Given the description of an element on the screen output the (x, y) to click on. 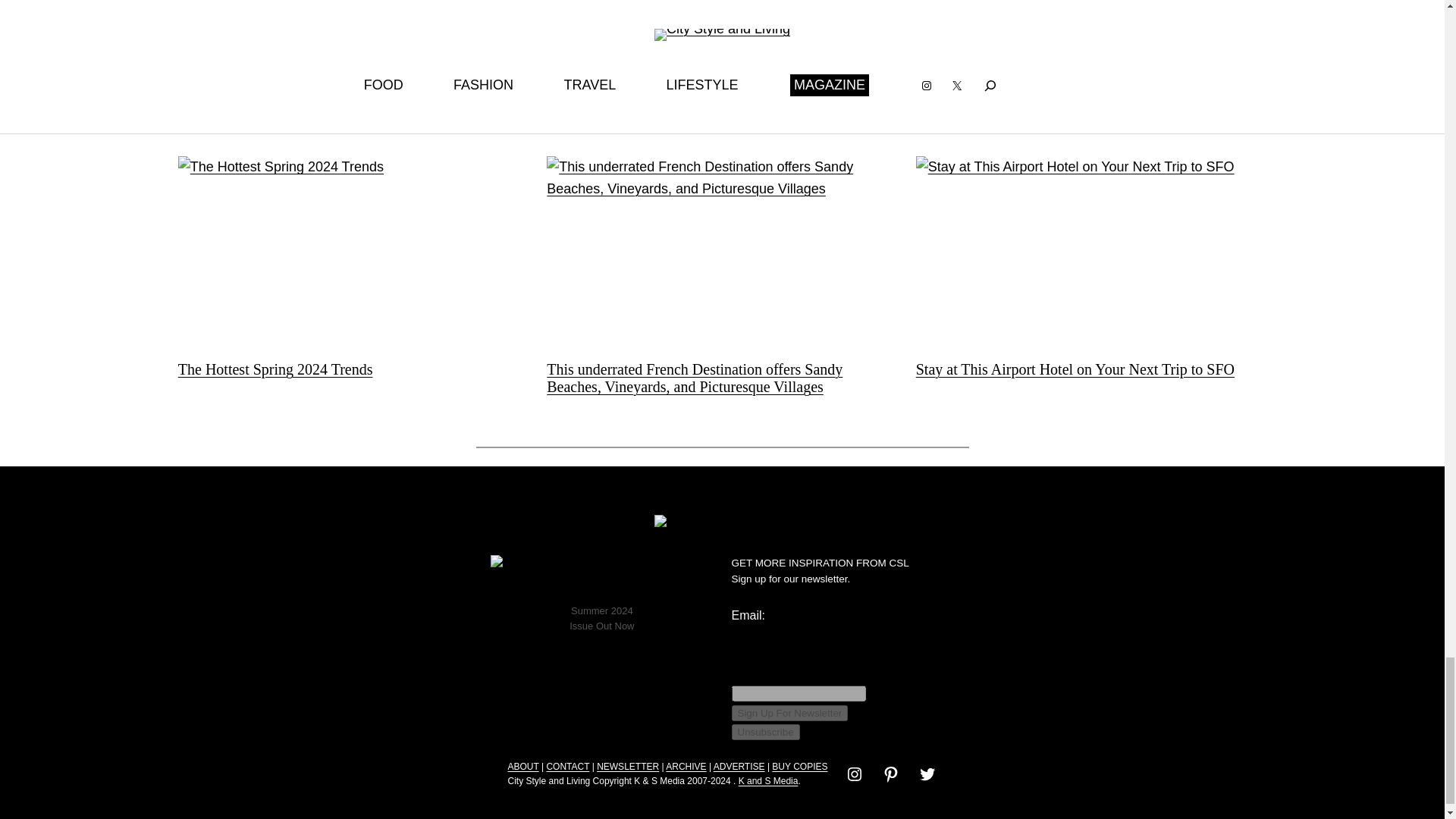
Sign Up For Newsletter (788, 713)
City Style and Living New Issue Available Now (601, 576)
Unsubscribe (764, 731)
